Given the description of an element on the screen output the (x, y) to click on. 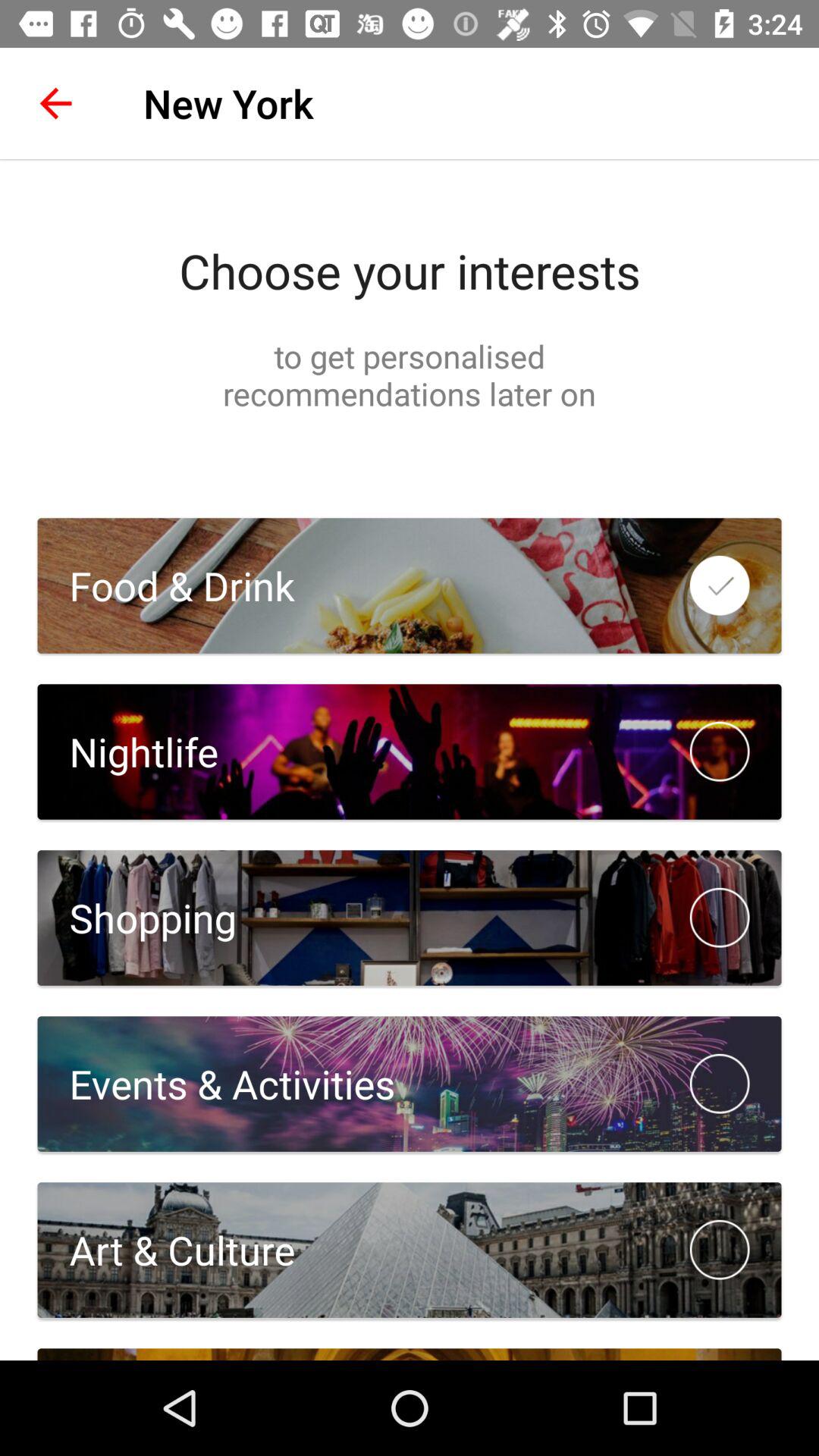
turn on the food & drink icon (165, 585)
